Given the description of an element on the screen output the (x, y) to click on. 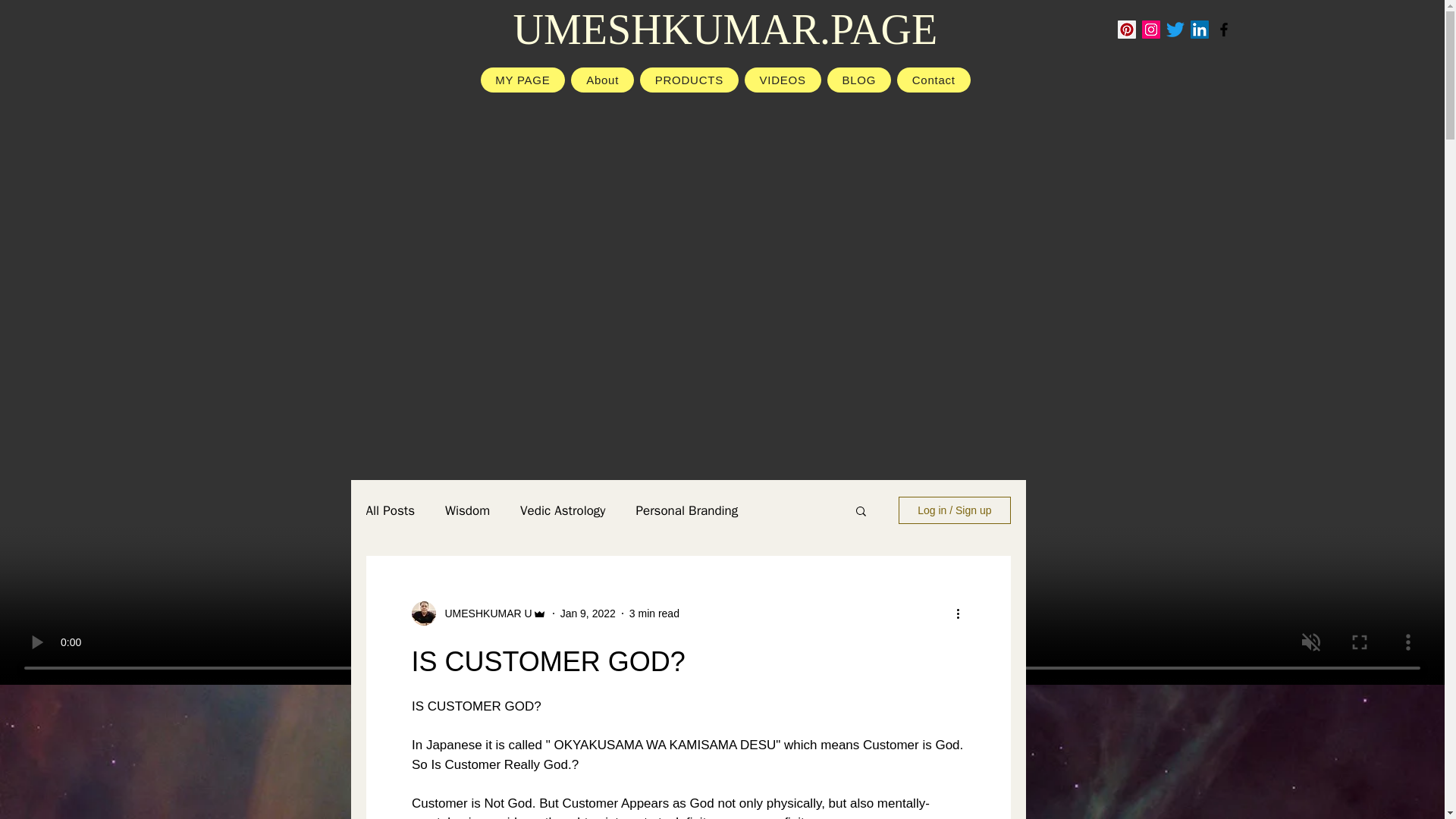
BLOG (859, 79)
MY PAGE (523, 79)
UMESHKUMAR U (483, 612)
Personal Branding (687, 510)
UMESHKUMAR.PAGE (724, 29)
Wisdom (467, 510)
VIDEOS (782, 79)
About (601, 79)
Jan 9, 2022 (587, 612)
Vedic Astrology (562, 510)
